Given the description of an element on the screen output the (x, y) to click on. 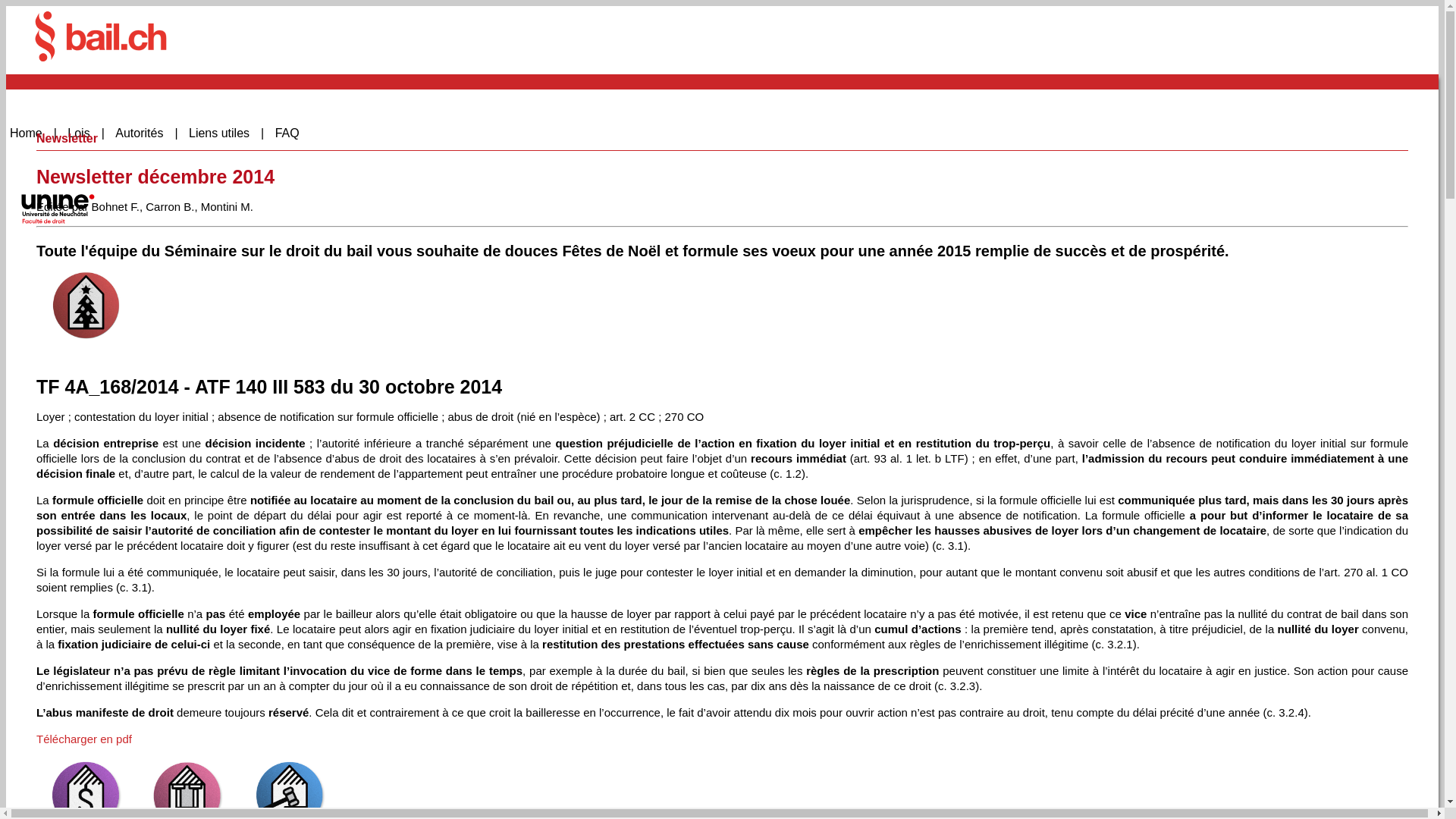
Home Element type: text (33, 133)
FAQ Element type: text (292, 133)
Liens utiles Element type: text (226, 133)
bail.ch Element type: hover (100, 35)
Lois Element type: text (85, 133)
